Given the description of an element on the screen output the (x, y) to click on. 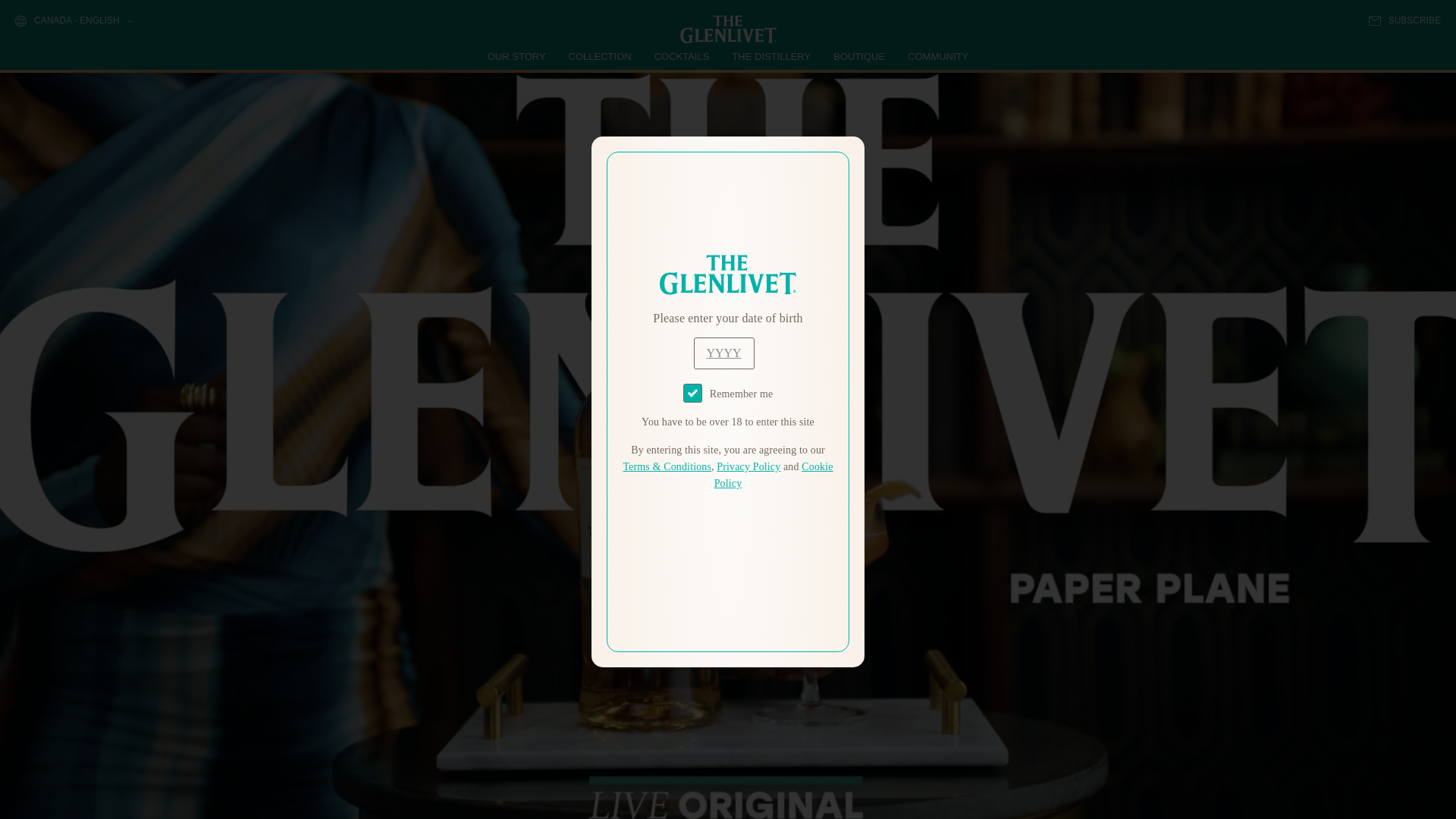
COMMUNITY (937, 56)
COLLECTION (600, 56)
CANADA - ENGLISH (73, 21)
OUR STORY (516, 56)
Cookie Policy (773, 474)
THE DISTILLERY (771, 56)
Privacy Policy (748, 466)
year (723, 353)
BOUTIQUE (858, 56)
SUBSCRIBE (1404, 20)
